Given the description of an element on the screen output the (x, y) to click on. 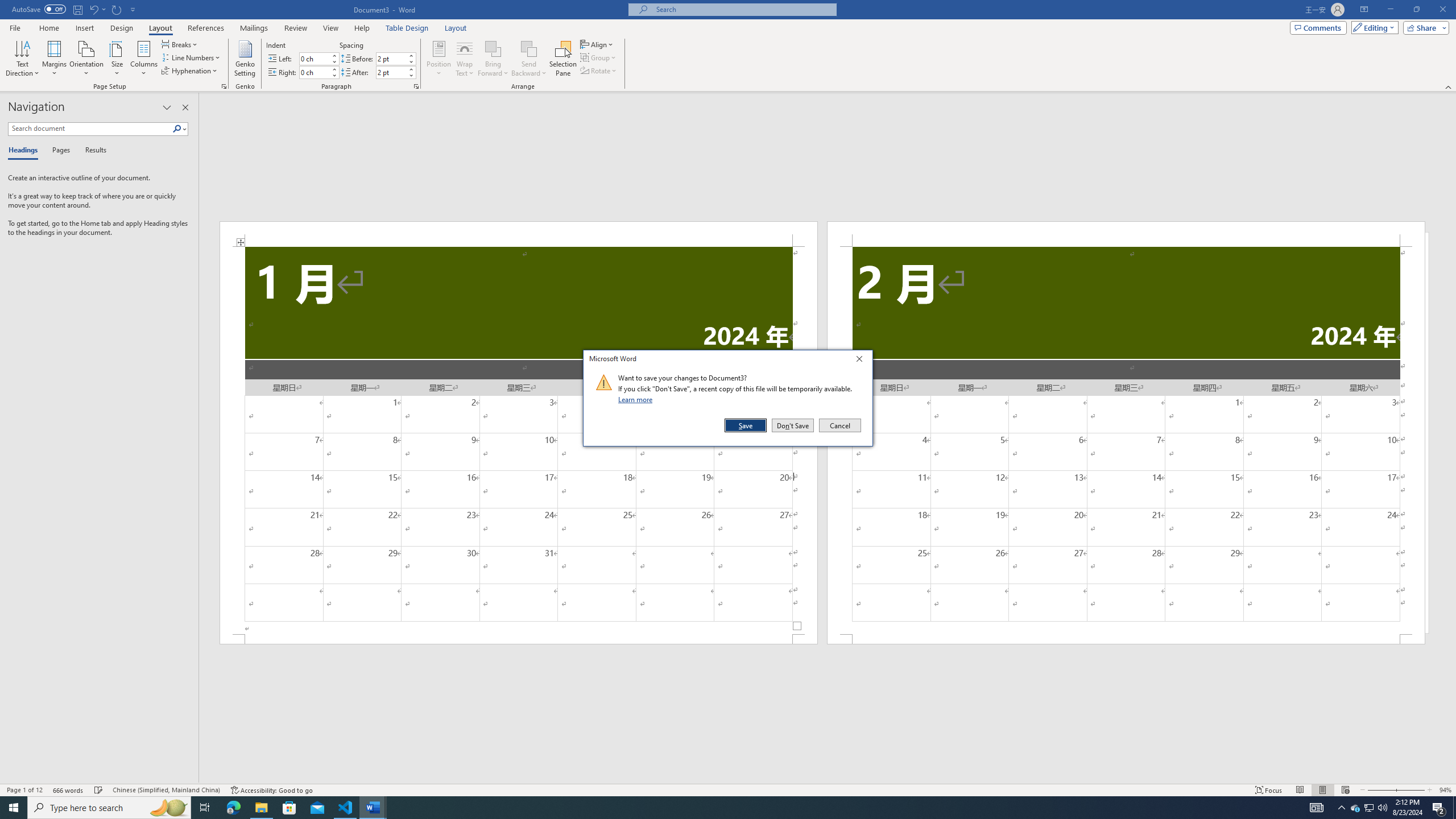
Rotate (599, 69)
Send Backward (528, 48)
Hyphenation (189, 69)
Spacing After (391, 72)
Header -Section 2- (1126, 233)
Indent Right (314, 72)
